Given the description of an element on the screen output the (x, y) to click on. 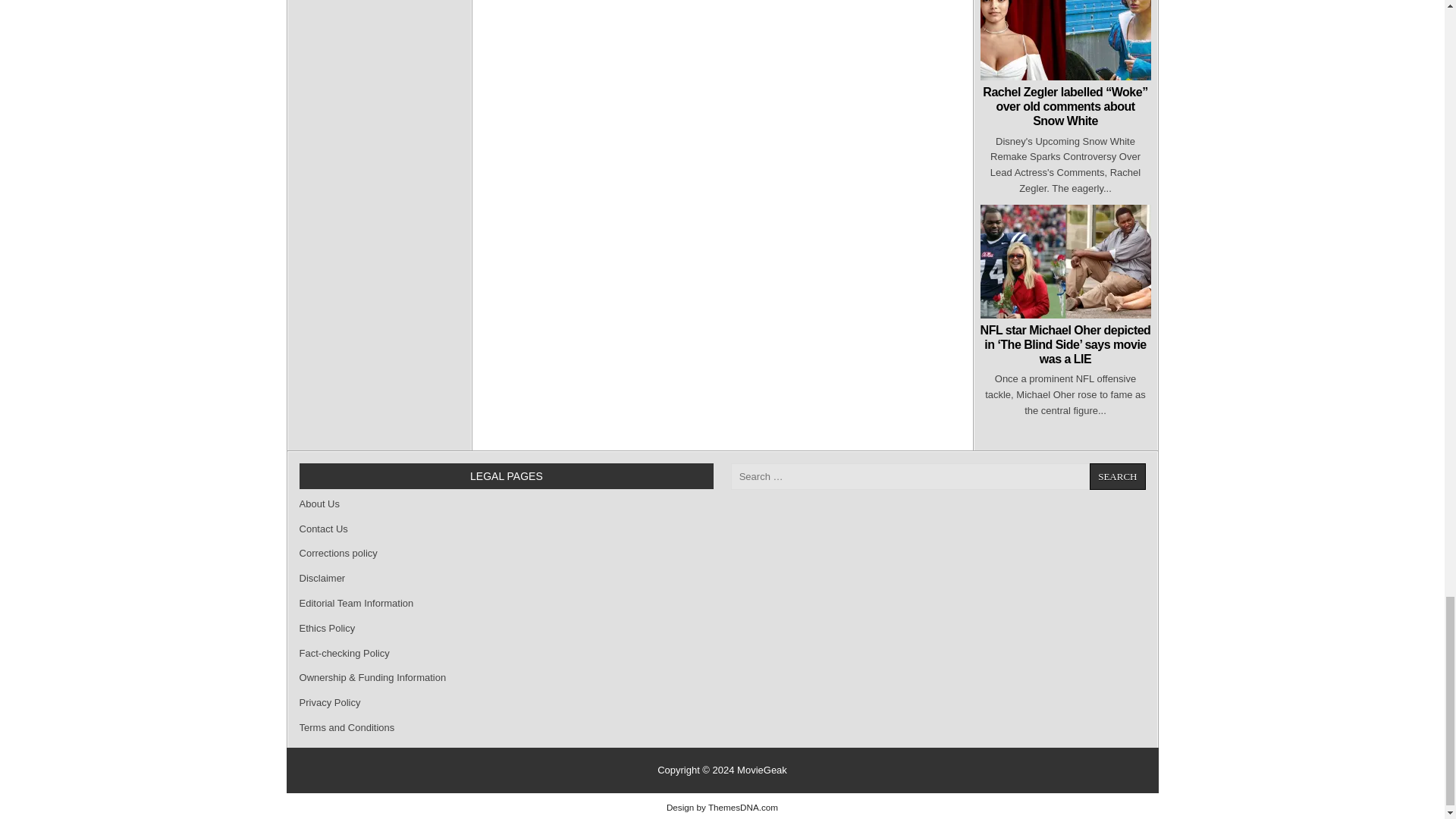
Search (1116, 476)
Search (1116, 476)
